Given the description of an element on the screen output the (x, y) to click on. 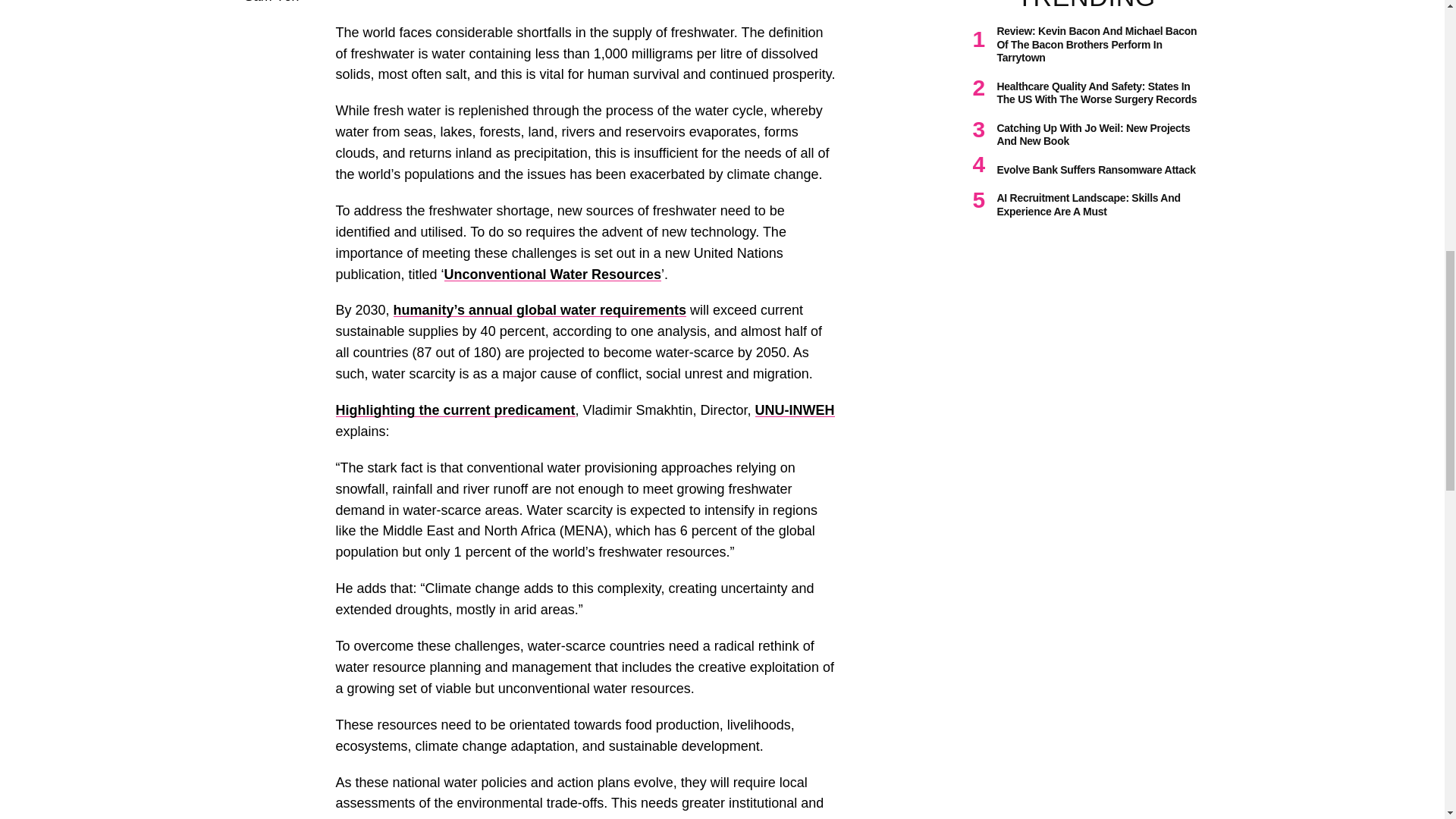
Highlighting the current predicament (454, 409)
UNU-INWEH (794, 409)
Unconventional Water Resources (552, 273)
